Given the description of an element on the screen output the (x, y) to click on. 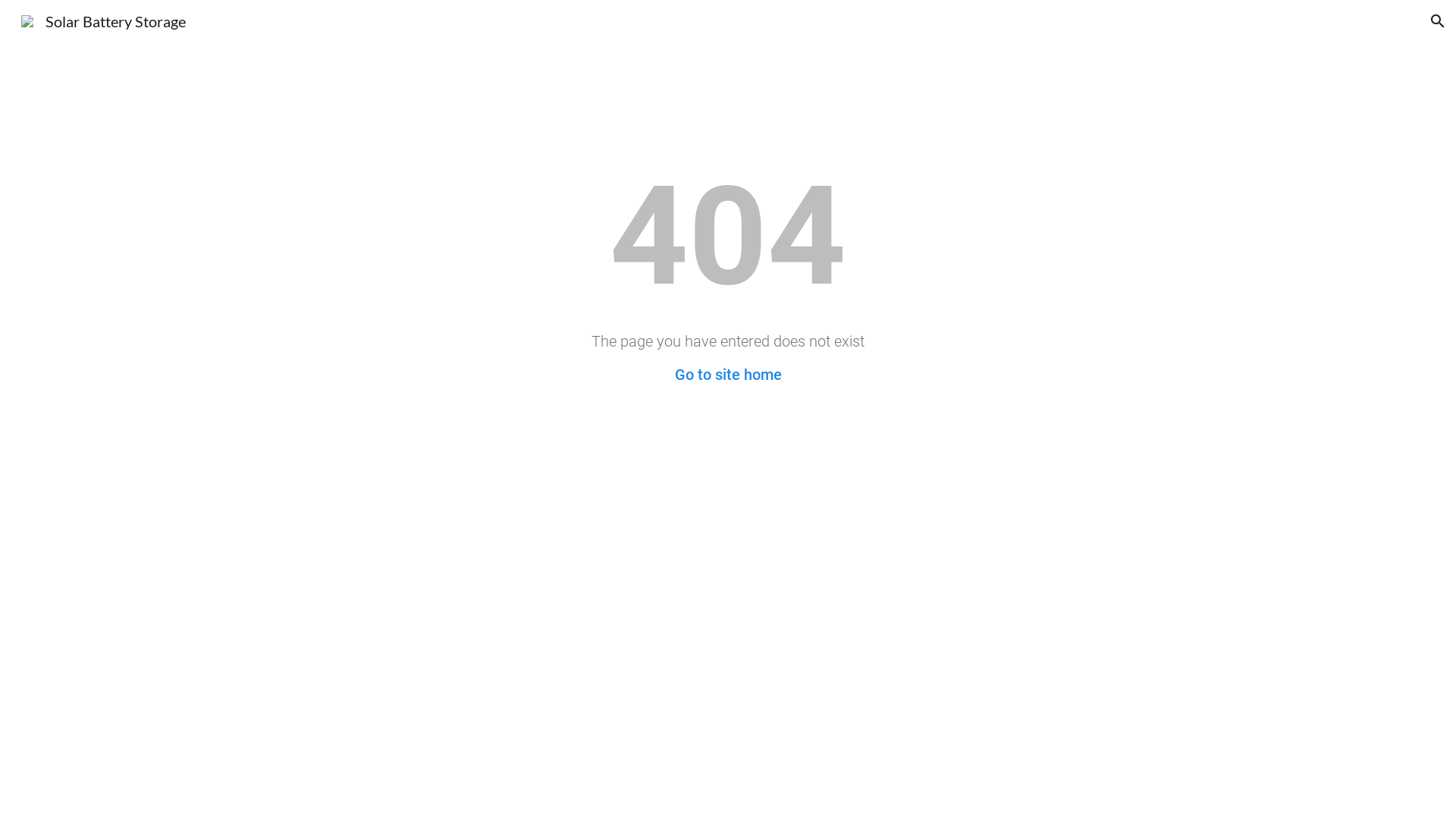
Solar Battery Storage Element type: text (103, 18)
Go to site home Element type: text (727, 374)
